Given the description of an element on the screen output the (x, y) to click on. 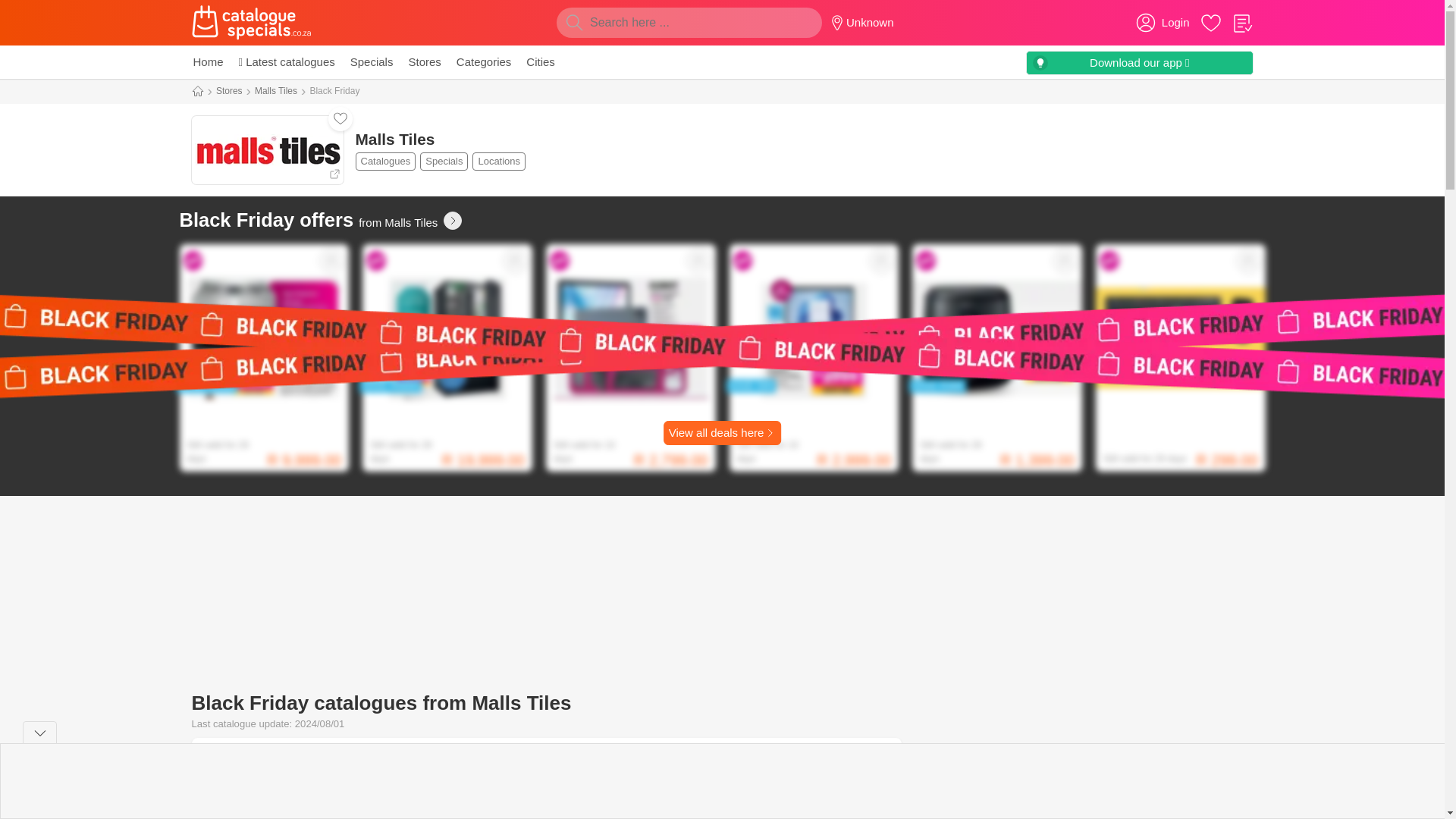
Malls Tiles (442, 150)
Specials (275, 90)
Catalogues (443, 161)
Home (384, 161)
Stores (441, 161)
Categories (207, 61)
Go to website (424, 61)
Specials (483, 61)
Locations (266, 150)
Stores (371, 61)
Cities (498, 161)
